Given the description of an element on the screen output the (x, y) to click on. 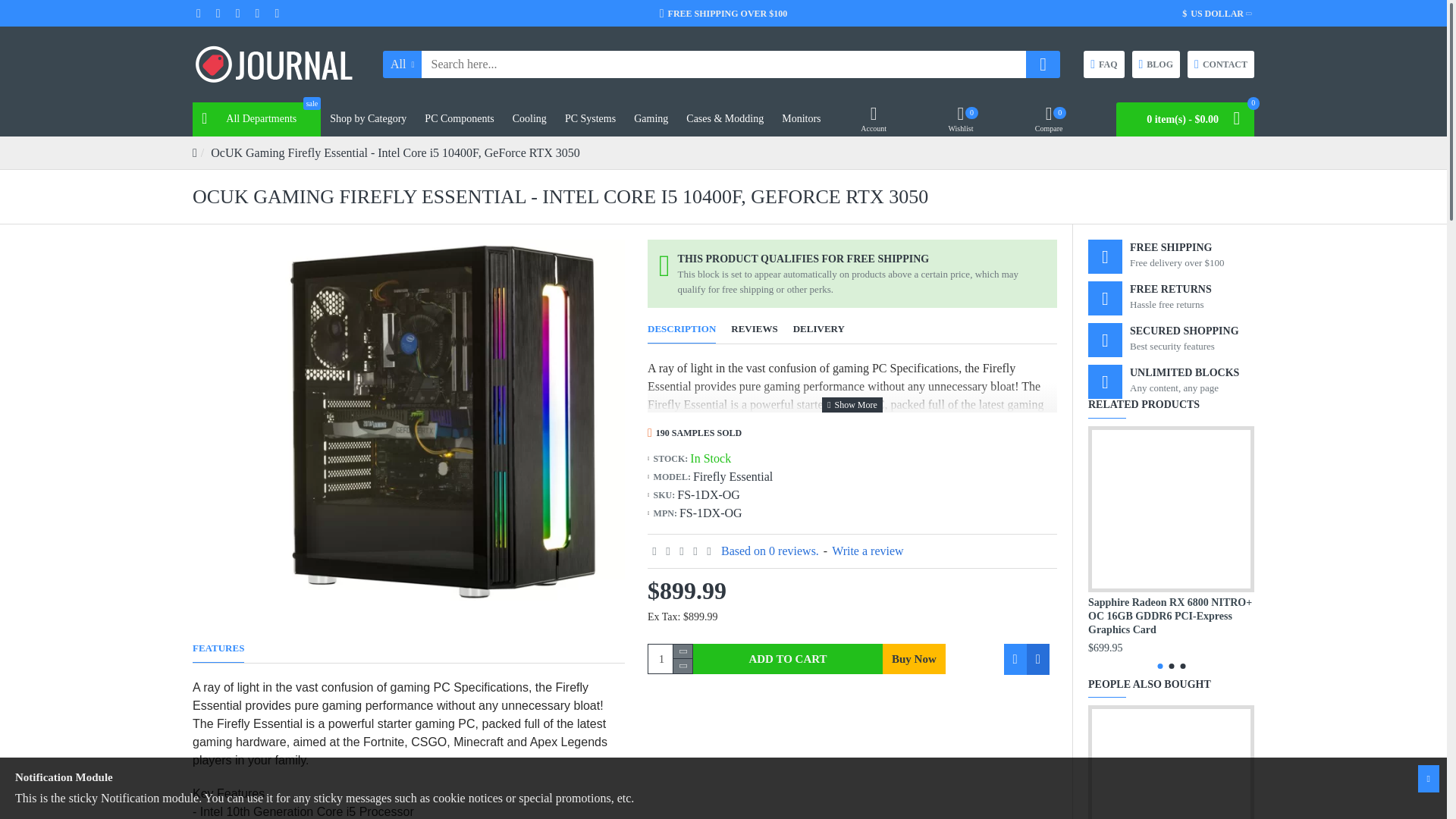
1 (670, 658)
BLOG (256, 119)
CONTACT (1155, 63)
FAQ (1220, 63)
Your Store (1103, 63)
